Given the description of an element on the screen output the (x, y) to click on. 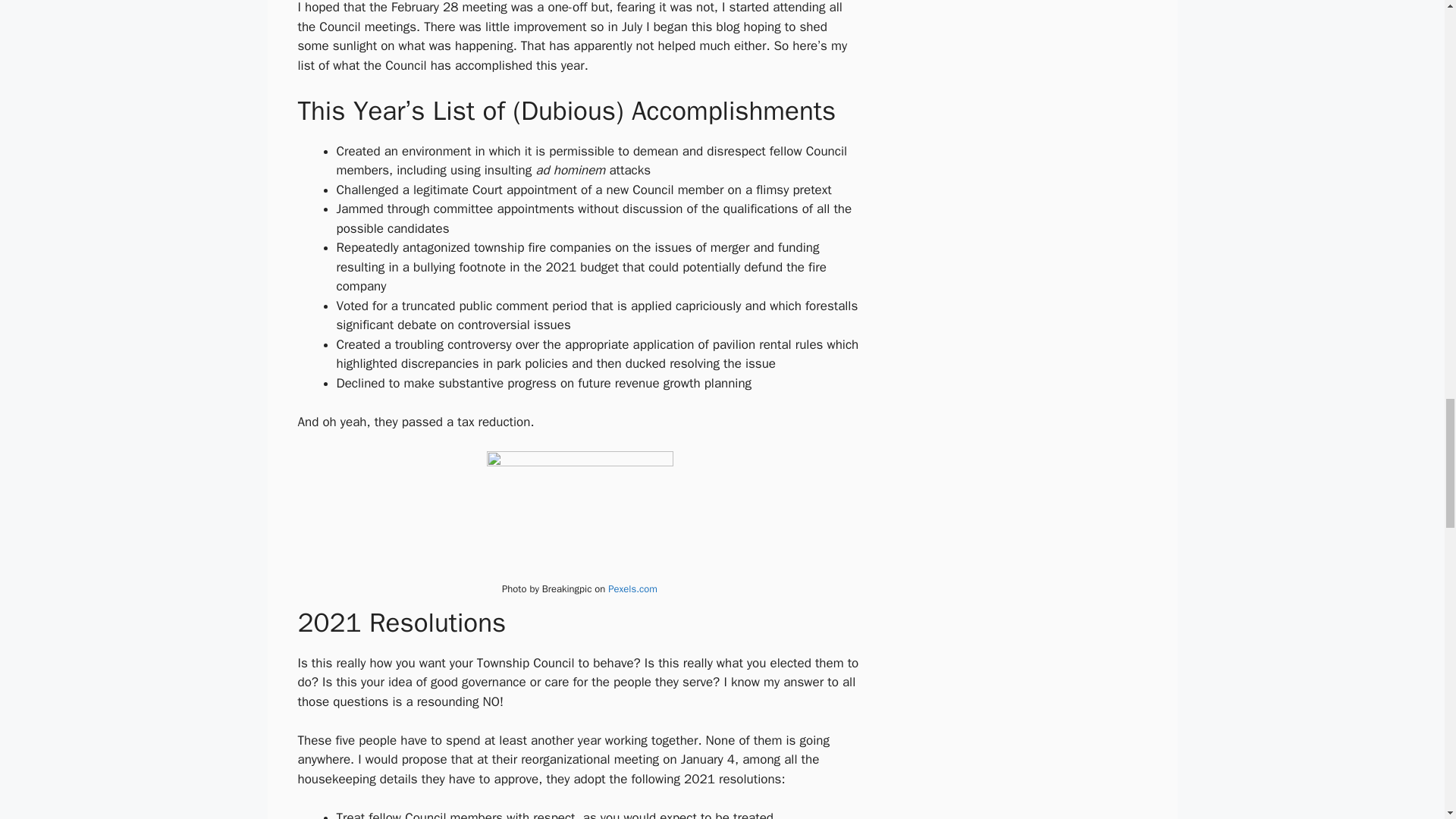
Pexels.com (633, 588)
